Given the description of an element on the screen output the (x, y) to click on. 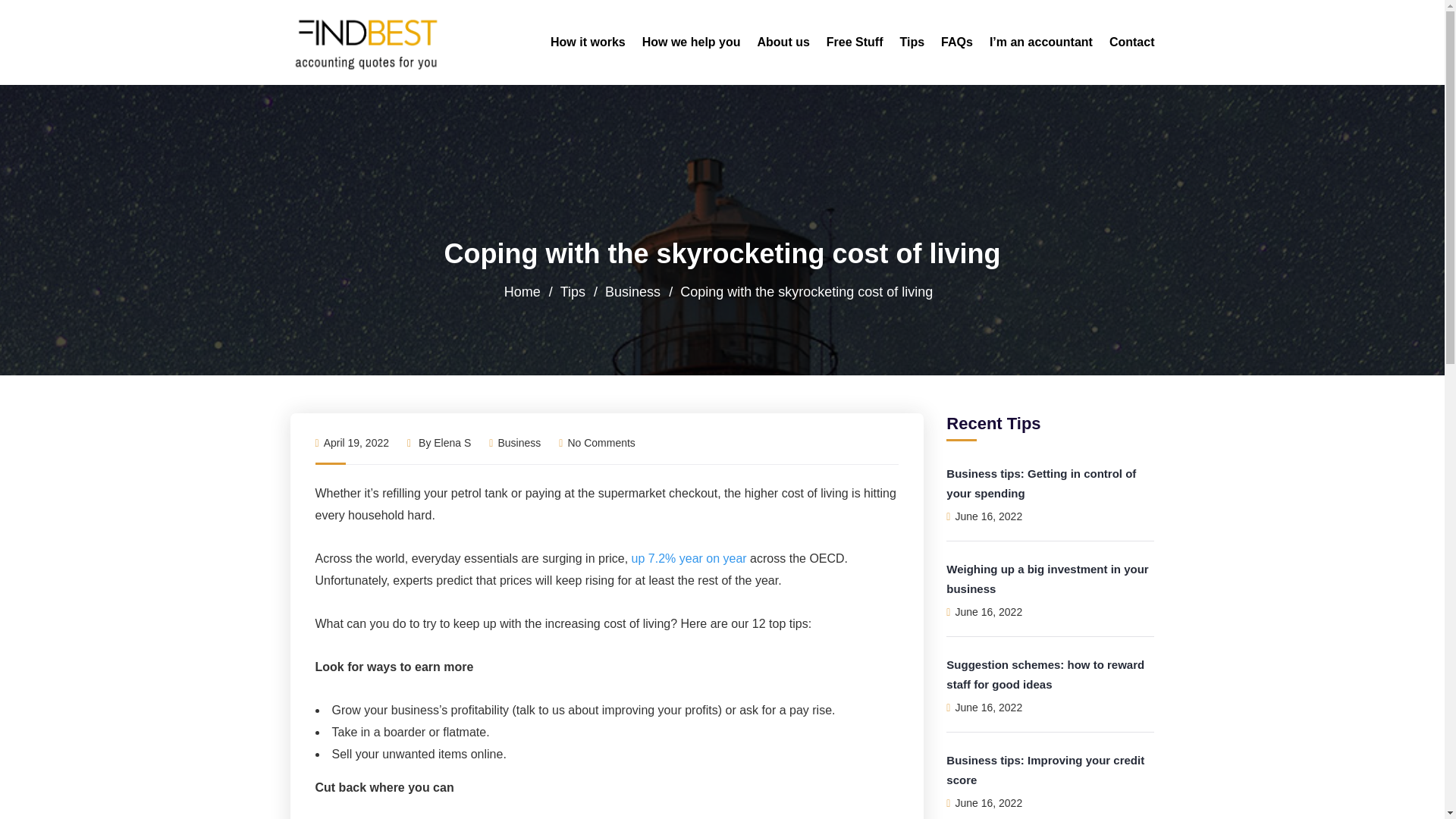
Weighing up a big investment in your business (1047, 578)
No Comments (596, 442)
Business tips: Improving your credit score (1045, 769)
Business (633, 291)
Find Best Accounting Quotes For You (367, 42)
Business (518, 442)
Elena S (451, 442)
Business tips: Improving your credit score (1045, 769)
Tips (572, 291)
Suggestion schemes: how to reward staff for good ideas (1045, 674)
